Given the description of an element on the screen output the (x, y) to click on. 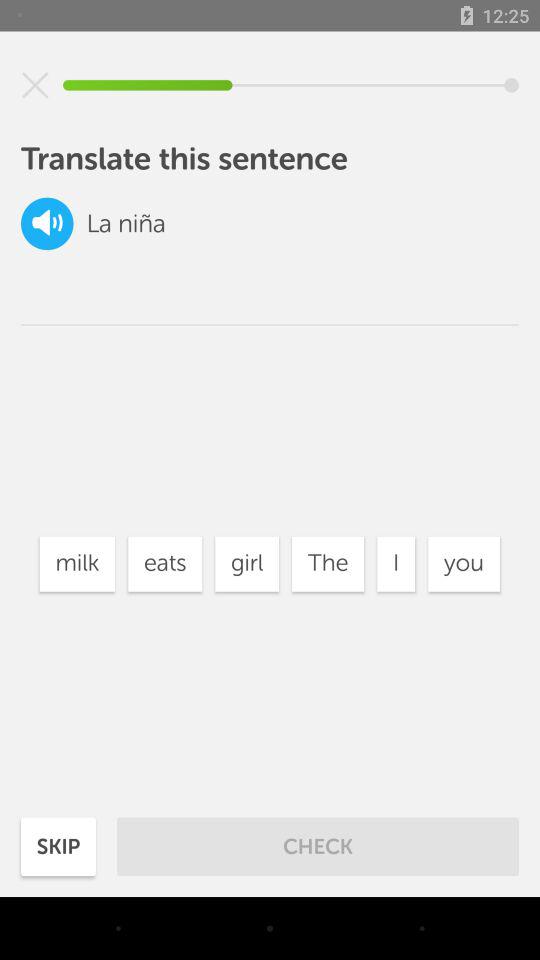
repeat phrase (47, 223)
